Given the description of an element on the screen output the (x, y) to click on. 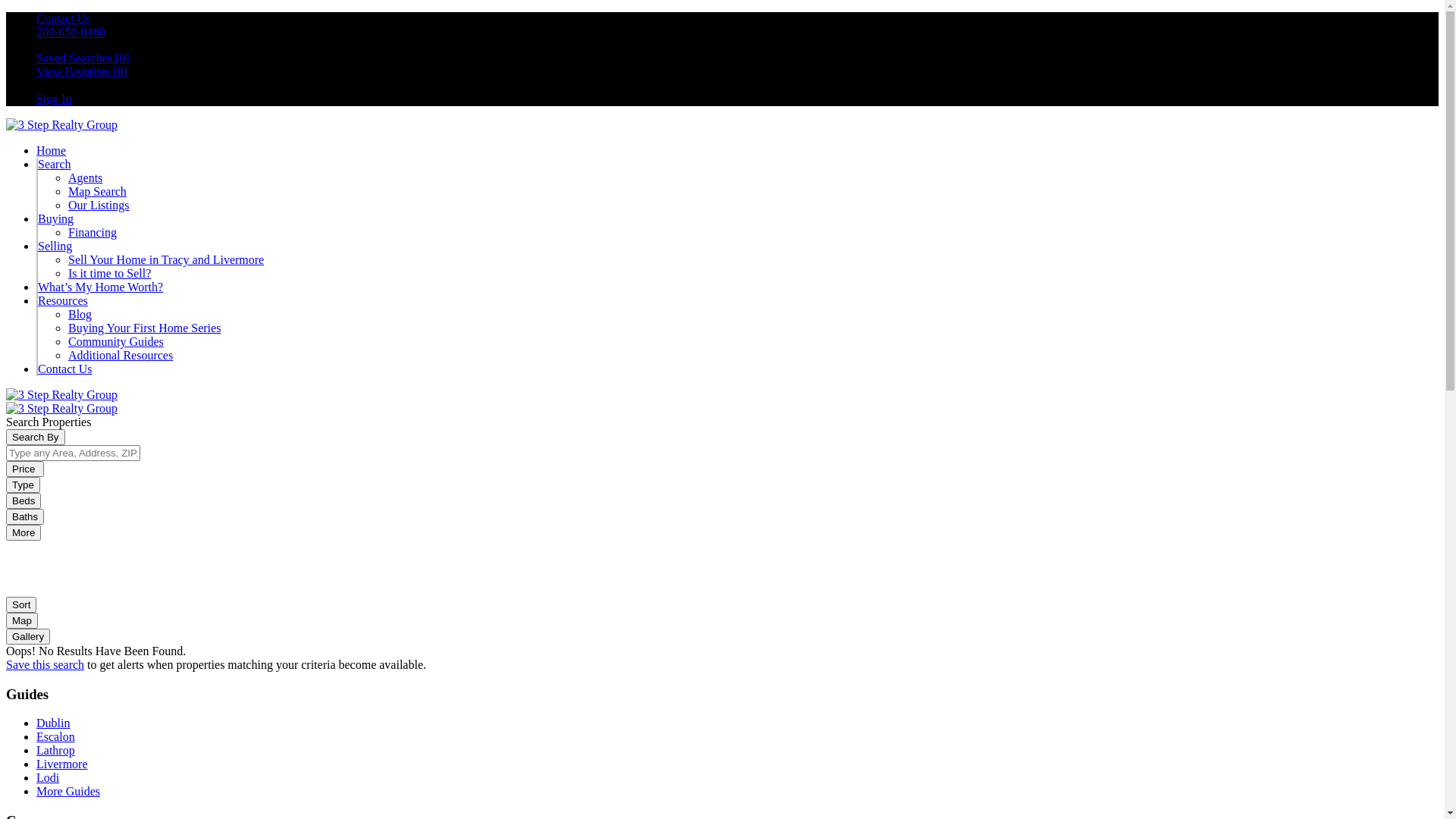
Beds Element type: text (23, 500)
Selling Element type: text (54, 245)
View Favorites [0] Element type: text (81, 71)
209-650-0400 Element type: text (70, 31)
Dublin Element type: text (52, 722)
Buying Your First Home Series Element type: text (144, 327)
Map Search Element type: text (97, 191)
Sort Element type: text (21, 604)
Saved Searches [0] Element type: text (82, 57)
Gallery Element type: text (28, 636)
More Guides Element type: text (68, 790)
Search Element type: text (54, 163)
Sell Your Home in Tracy and Livermore Element type: text (165, 259)
Financing Element type: text (92, 231)
Our Listings Element type: text (98, 204)
Additional Resources Element type: text (120, 354)
Lodi Element type: text (47, 777)
Search By Element type: text (35, 437)
Gallery Element type: text (28, 635)
Contact Us Element type: text (63, 18)
Save this search Element type: text (45, 664)
Map Element type: text (21, 620)
Blog Element type: text (79, 313)
Home Element type: text (50, 150)
Price  Element type: text (24, 468)
Escalon Element type: text (55, 736)
Resources Element type: text (62, 300)
Sign In Element type: text (54, 98)
Community Guides Element type: text (115, 341)
Lathrop Element type: text (55, 749)
Is it time to Sell? Element type: text (109, 272)
Buying Element type: text (55, 218)
More Element type: text (23, 532)
Baths Element type: text (24, 516)
Livermore Element type: text (61, 763)
Map Element type: text (21, 619)
Contact Us Element type: text (64, 368)
Agents Element type: text (85, 177)
Type Element type: text (23, 484)
